Given the description of an element on the screen output the (x, y) to click on. 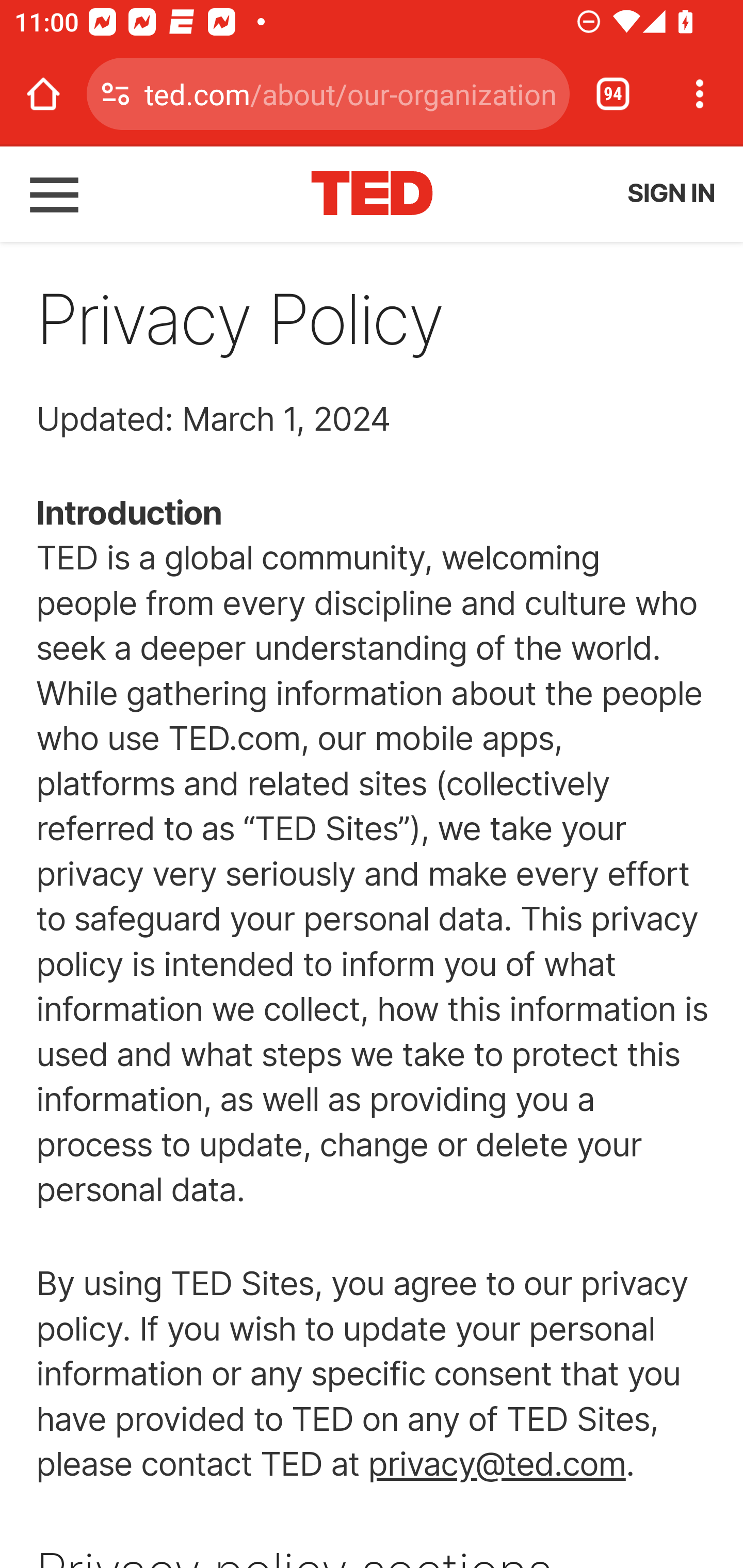
Open the home page (43, 93)
Connection is secure (115, 93)
Switch or close tabs (612, 93)
Customize and control Google Chrome (699, 93)
Main menu (54, 193)
TED (372, 193)
SIGN IN (670, 193)
privacy@ted.com (496, 1464)
